Given the description of an element on the screen output the (x, y) to click on. 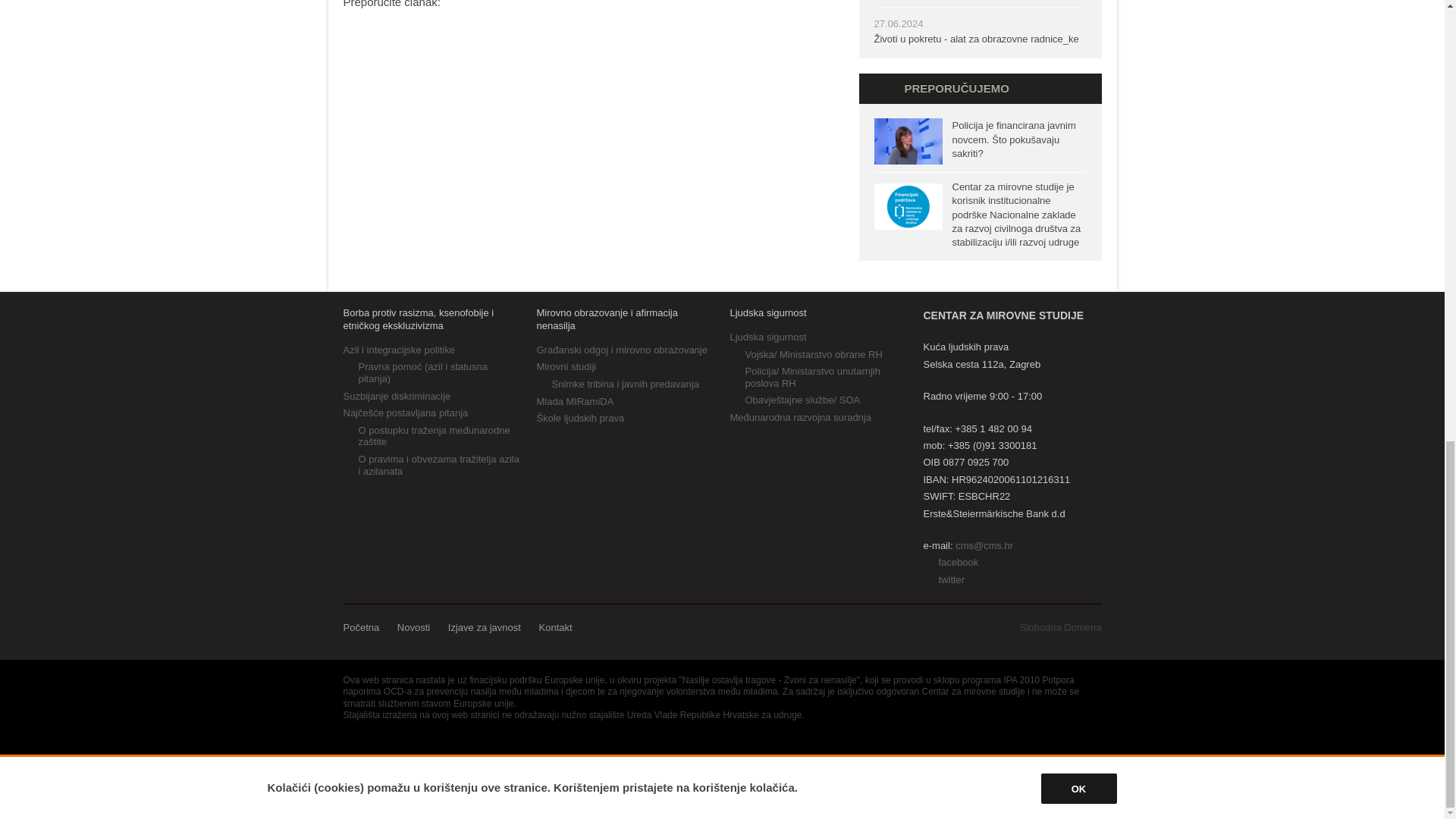
izrada web stranice (1061, 627)
